Given the description of an element on the screen output the (x, y) to click on. 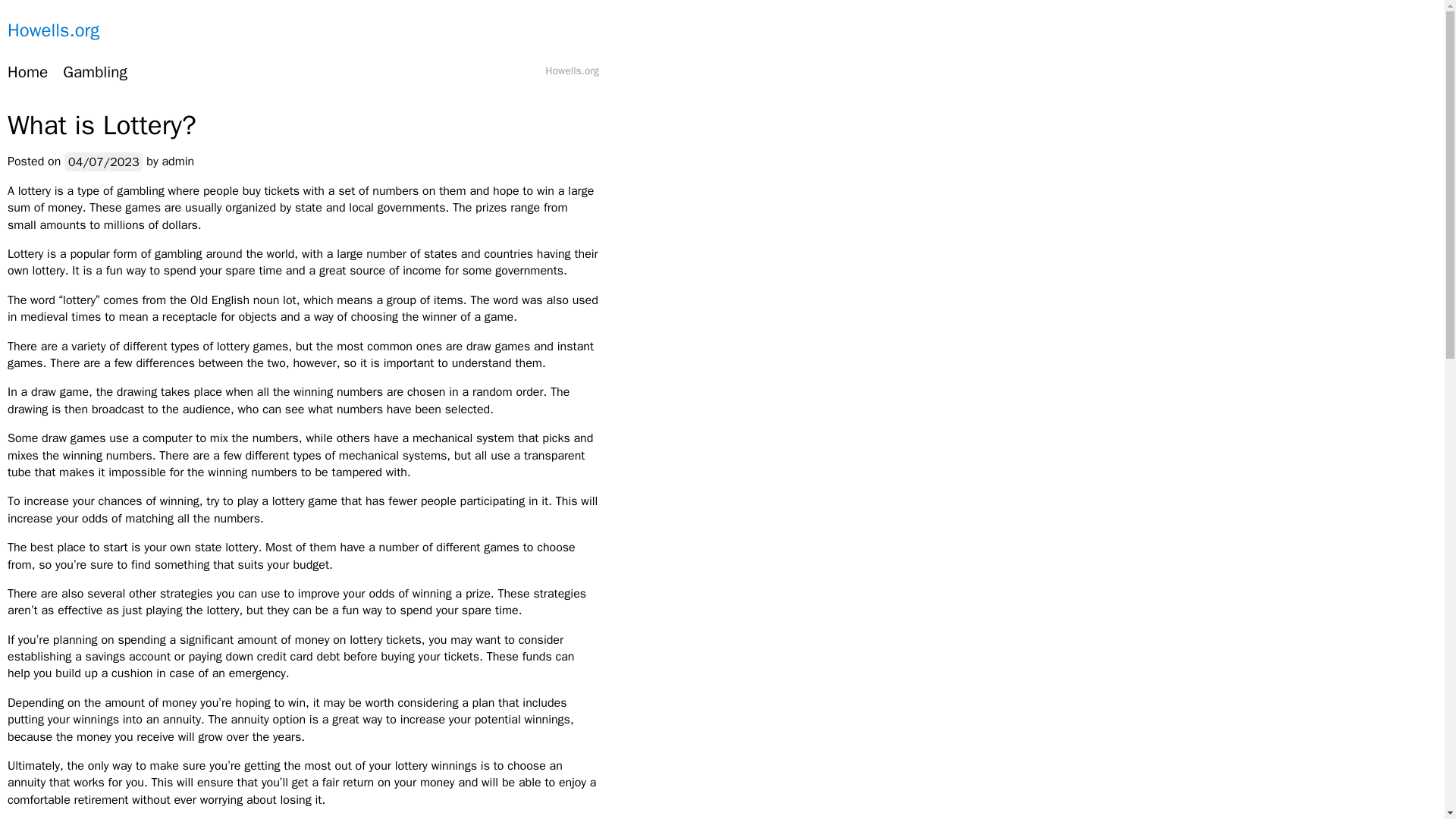
Gambling (95, 73)
Howells.org (53, 29)
admin (177, 160)
Home (27, 73)
